Given the description of an element on the screen output the (x, y) to click on. 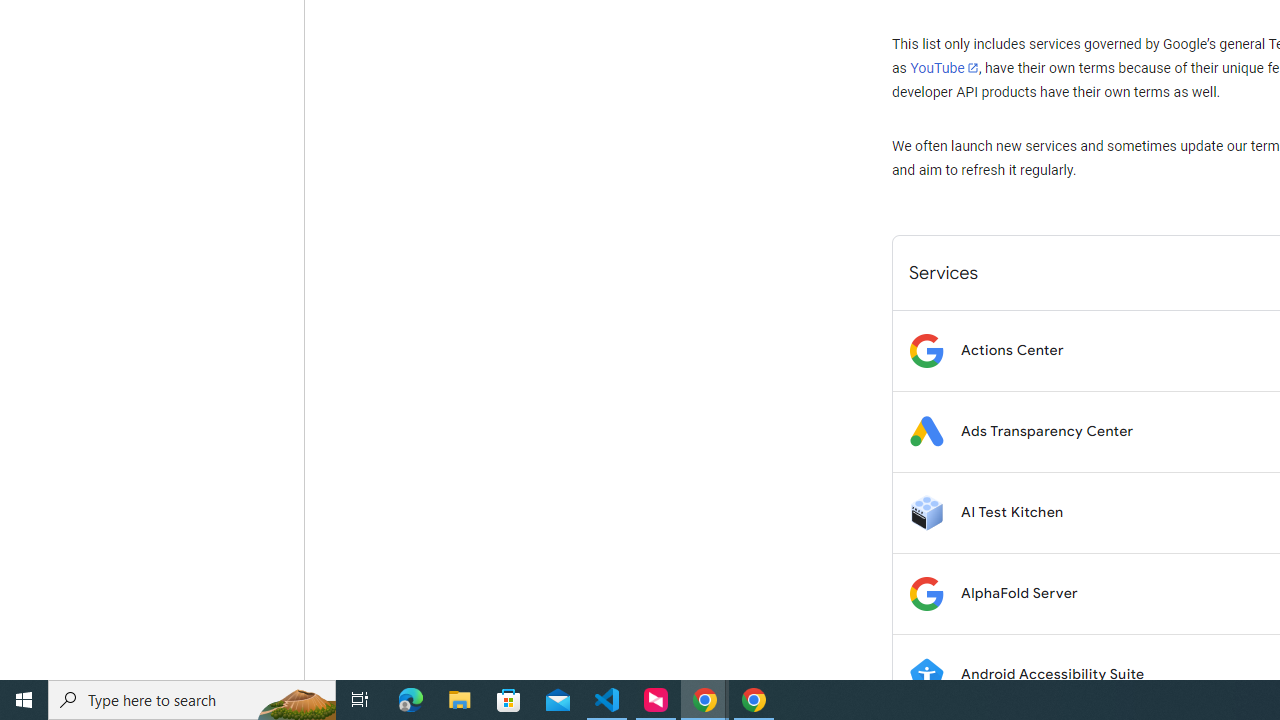
Logo for Actions Center (926, 349)
Logo for AI Test Kitchen (926, 512)
Logo for Ads Transparency Center (926, 431)
Logo for Android Accessibility Suite (926, 673)
Logo for AlphaFold Server (926, 593)
YouTube (944, 68)
